Given the description of an element on the screen output the (x, y) to click on. 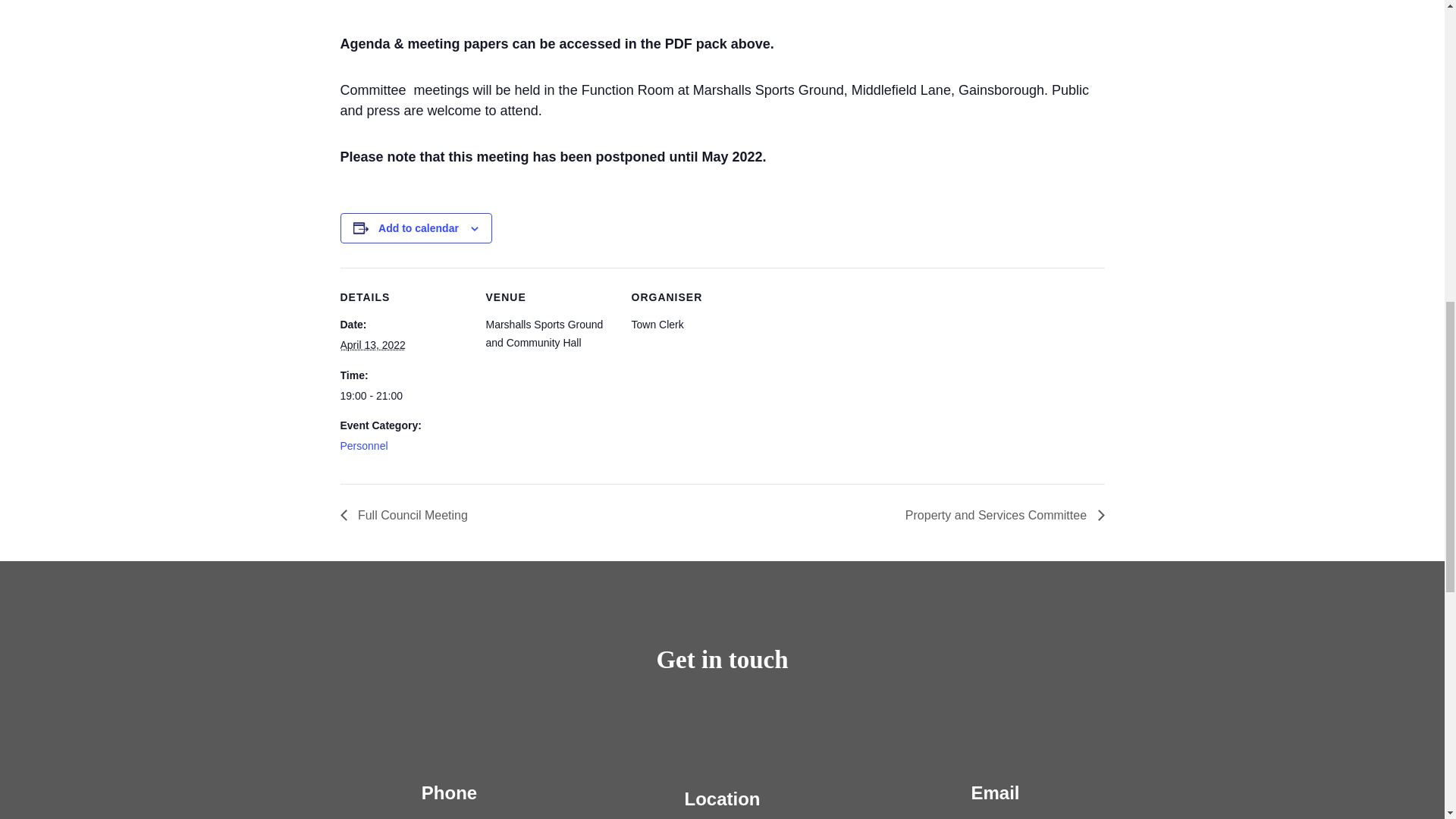
2022-04-13 (403, 396)
2022-04-13 (371, 345)
